Given the description of an element on the screen output the (x, y) to click on. 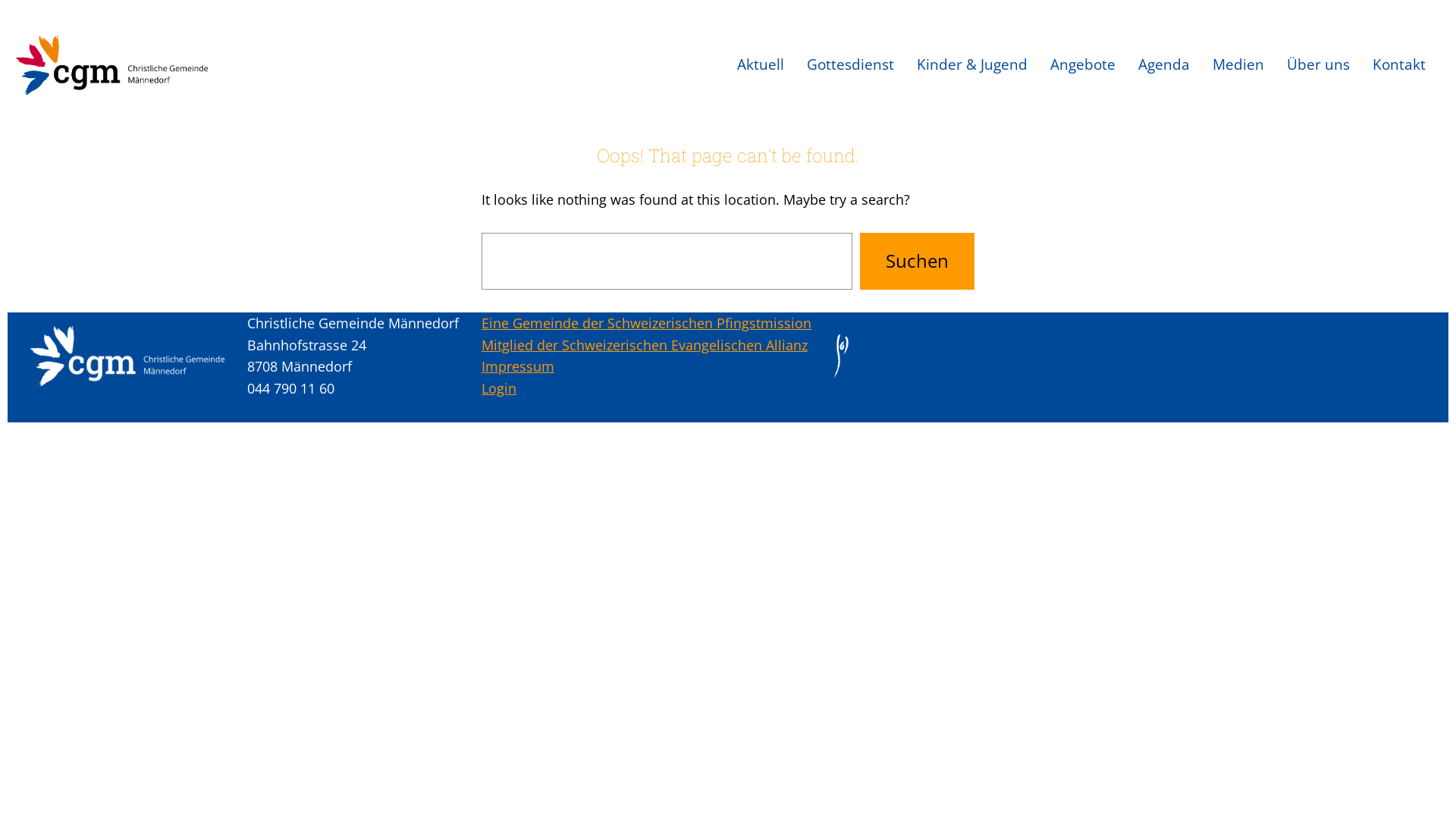
Login Element type: text (498, 388)
Gottesdienst Element type: text (850, 64)
Suchen Element type: text (916, 260)
Medien Element type: text (1238, 64)
Agenda Element type: text (1163, 64)
Kinder & Jugend Element type: text (971, 64)
Impressum Element type: text (517, 366)
Eine Gemeinde der Schweizerischen Pfingstmission Element type: text (646, 322)
Angebote Element type: text (1082, 64)
Mitglied der Schweizerischen Evangelischen Allianz Element type: text (644, 344)
Aktuell Element type: text (760, 64)
Kontakt Element type: text (1398, 64)
